Given the description of an element on the screen output the (x, y) to click on. 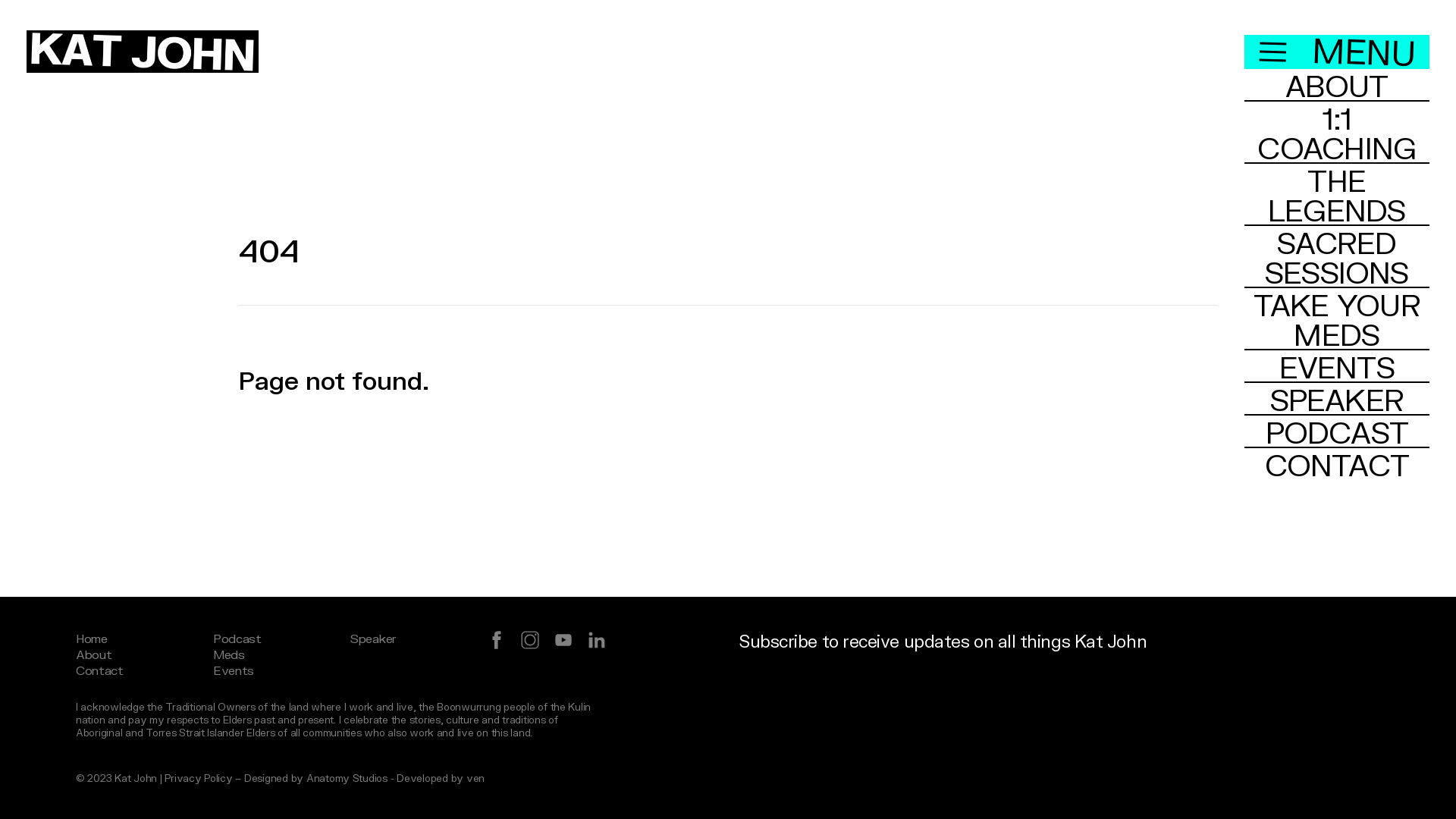
CONTACT Element type: text (1336, 463)
MENU Element type: text (1336, 51)
Home Element type: text (91, 637)
Speaker Element type: text (372, 637)
THE LEGENDS Element type: text (1336, 194)
EVENTS Element type: text (1336, 366)
TAKE YOUR MEDS Element type: text (1336, 318)
Contact Element type: text (99, 669)
Meds Element type: text (228, 653)
SPEAKER Element type: text (1336, 398)
ABOUT Element type: text (1336, 84)
SACRED SESSIONS Element type: text (1336, 256)
Podcast Element type: text (237, 637)
Privacy Policy Element type: text (198, 777)
PODCAST Element type: text (1336, 431)
Designed by Anatomy Studios Element type: text (315, 777)
Developed by ven Element type: text (440, 777)
Events Element type: text (233, 669)
About Element type: text (93, 653)
1:1 COACHING Element type: text (1336, 132)
